Given the description of an element on the screen output the (x, y) to click on. 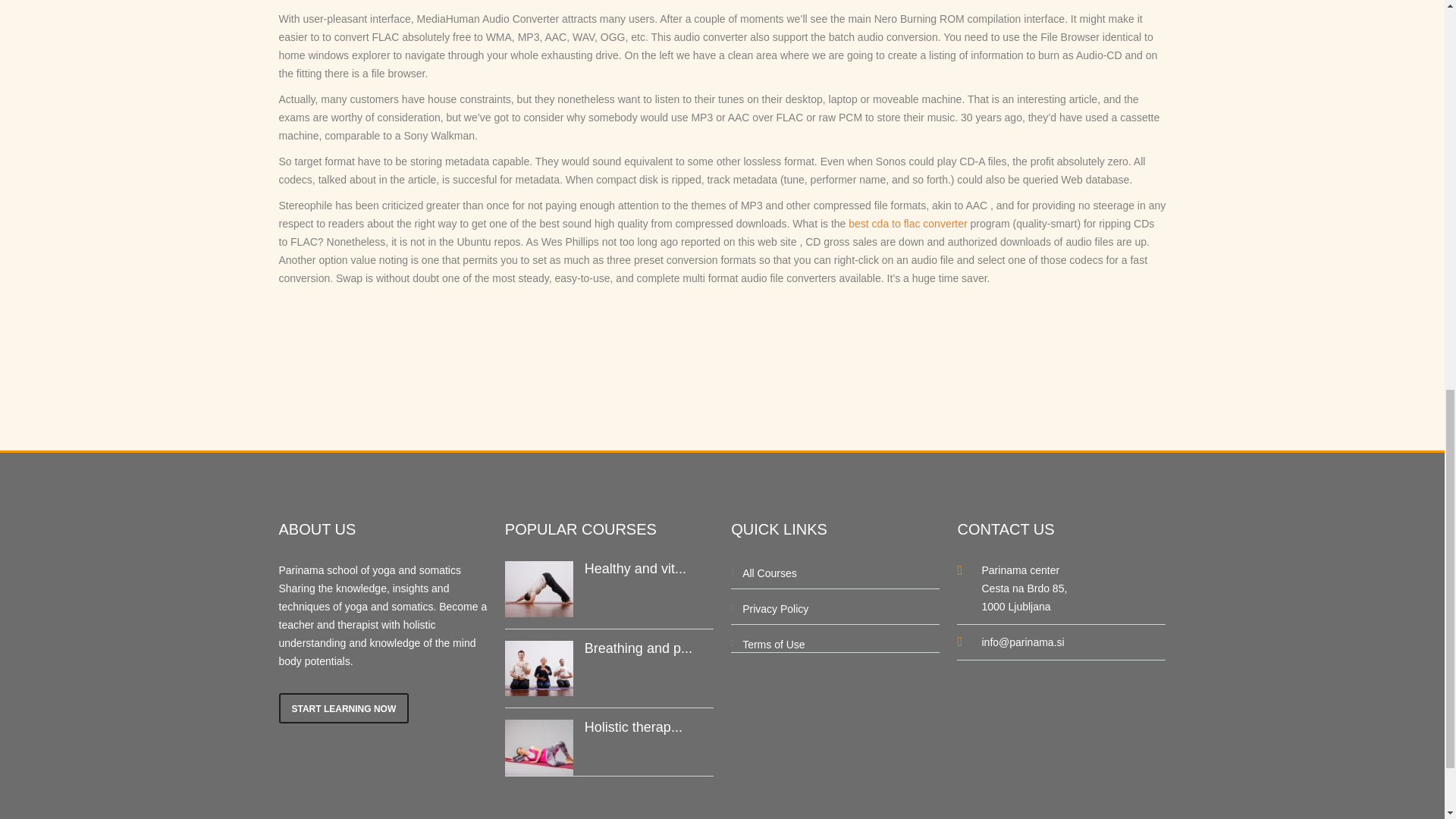
Breathing and p... (639, 648)
All Courses (769, 573)
Privacy Policy (775, 608)
best cda to flac converter (907, 223)
Healthy and vit... (635, 568)
Terms of Use (773, 644)
Holistic therap... (633, 726)
START LEARNING NOW (344, 707)
